Given the description of an element on the screen output the (x, y) to click on. 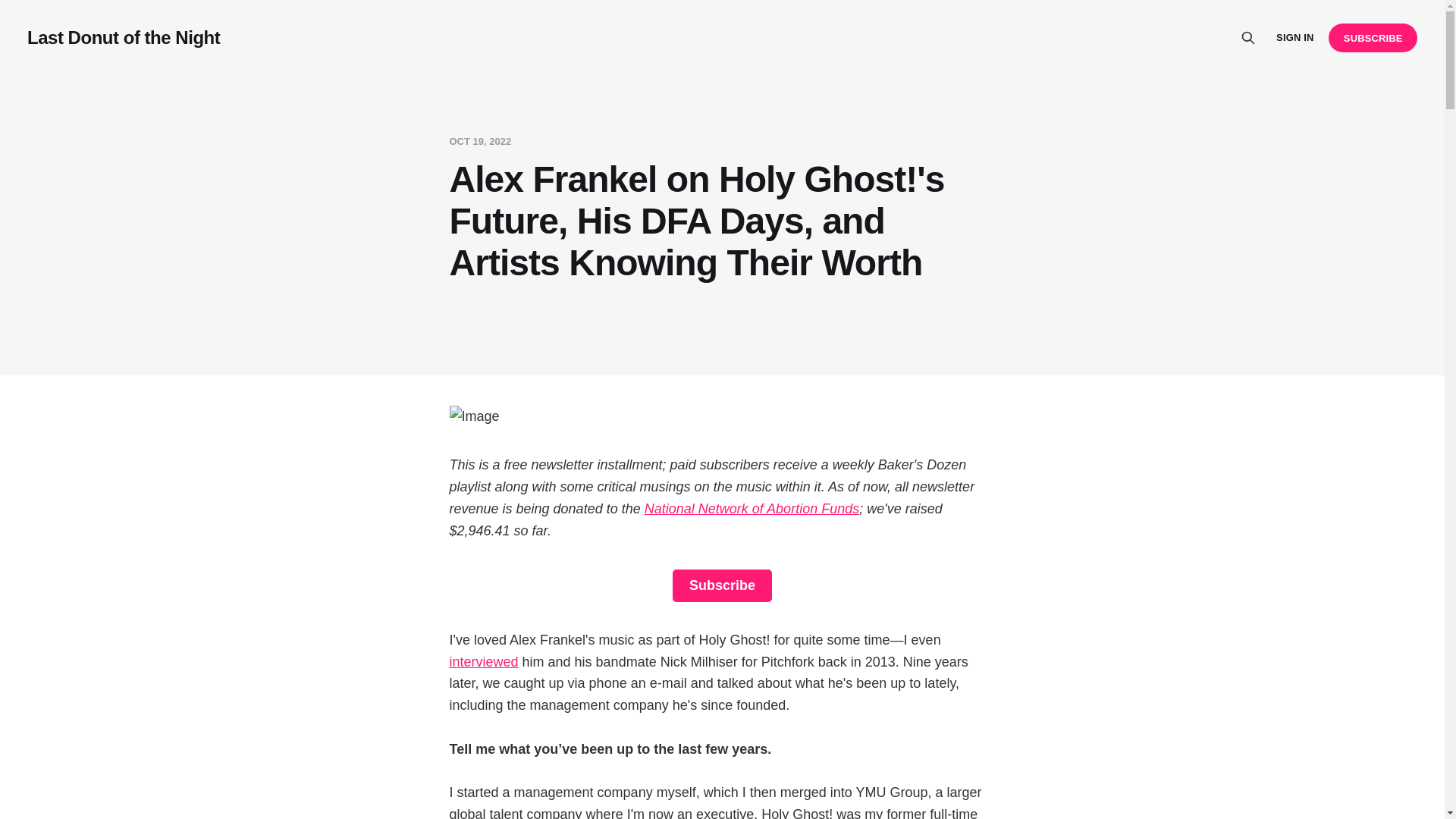
SUBSCRIBE (1371, 37)
Last Donut of the Night (123, 37)
National Network of Abortion Funds (752, 508)
SIGN IN (1294, 37)
Subscribe (721, 585)
interviewed (483, 661)
